Given the description of an element on the screen output the (x, y) to click on. 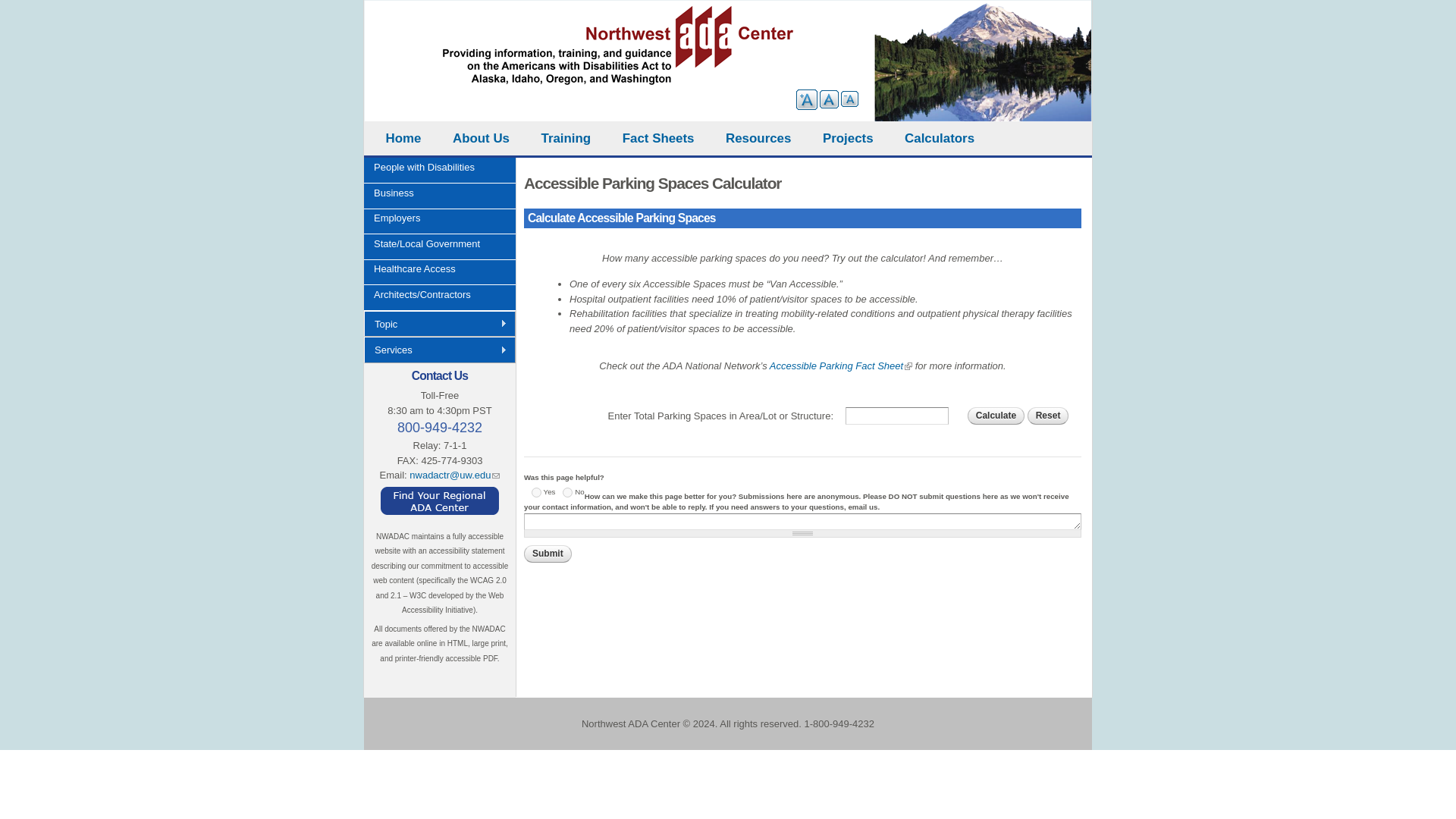
Yes (536, 492)
People with Disabilities (444, 170)
Accessibility Calculators (939, 138)
Employers (444, 221)
Business (444, 196)
Fact Sheets (658, 138)
Projects (847, 138)
About Us (480, 138)
Resources (757, 138)
No (567, 492)
